Given the description of an element on the screen output the (x, y) to click on. 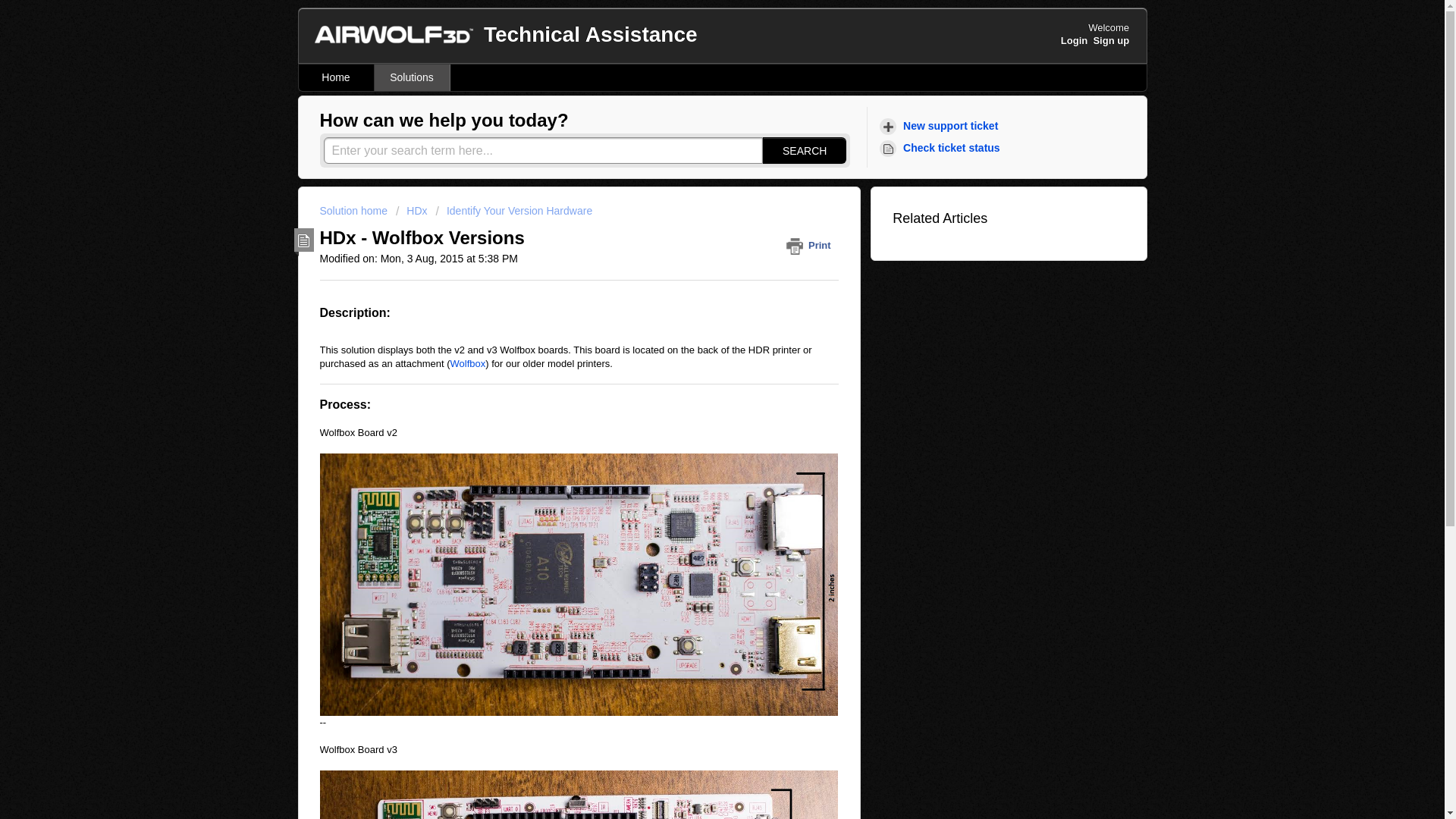
New support ticket (940, 126)
Wolfbox (467, 363)
HDx (412, 210)
Solution home (355, 210)
Home (336, 77)
Check ticket status (941, 147)
Solutions (411, 77)
Print (812, 244)
Sign up (1111, 40)
Print this Article (812, 244)
